Given the description of an element on the screen output the (x, y) to click on. 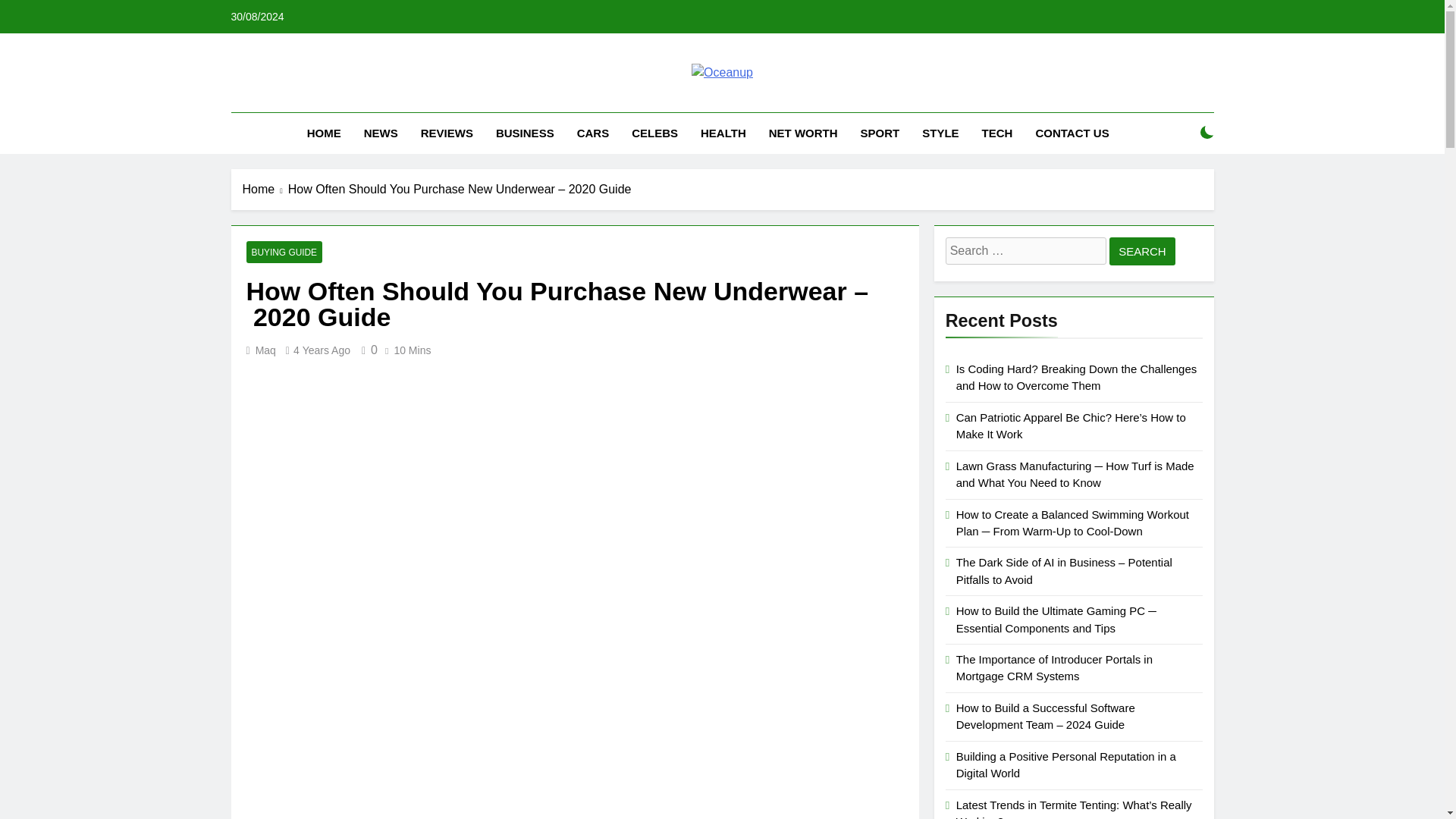
SPORT (879, 133)
CONTACT US (1071, 133)
REVIEWS (446, 133)
CELEBS (654, 133)
Search (1141, 251)
BUYING GUIDE (283, 251)
0 (366, 349)
STYLE (940, 133)
NET WORTH (802, 133)
CARS (593, 133)
